Given the description of an element on the screen output the (x, y) to click on. 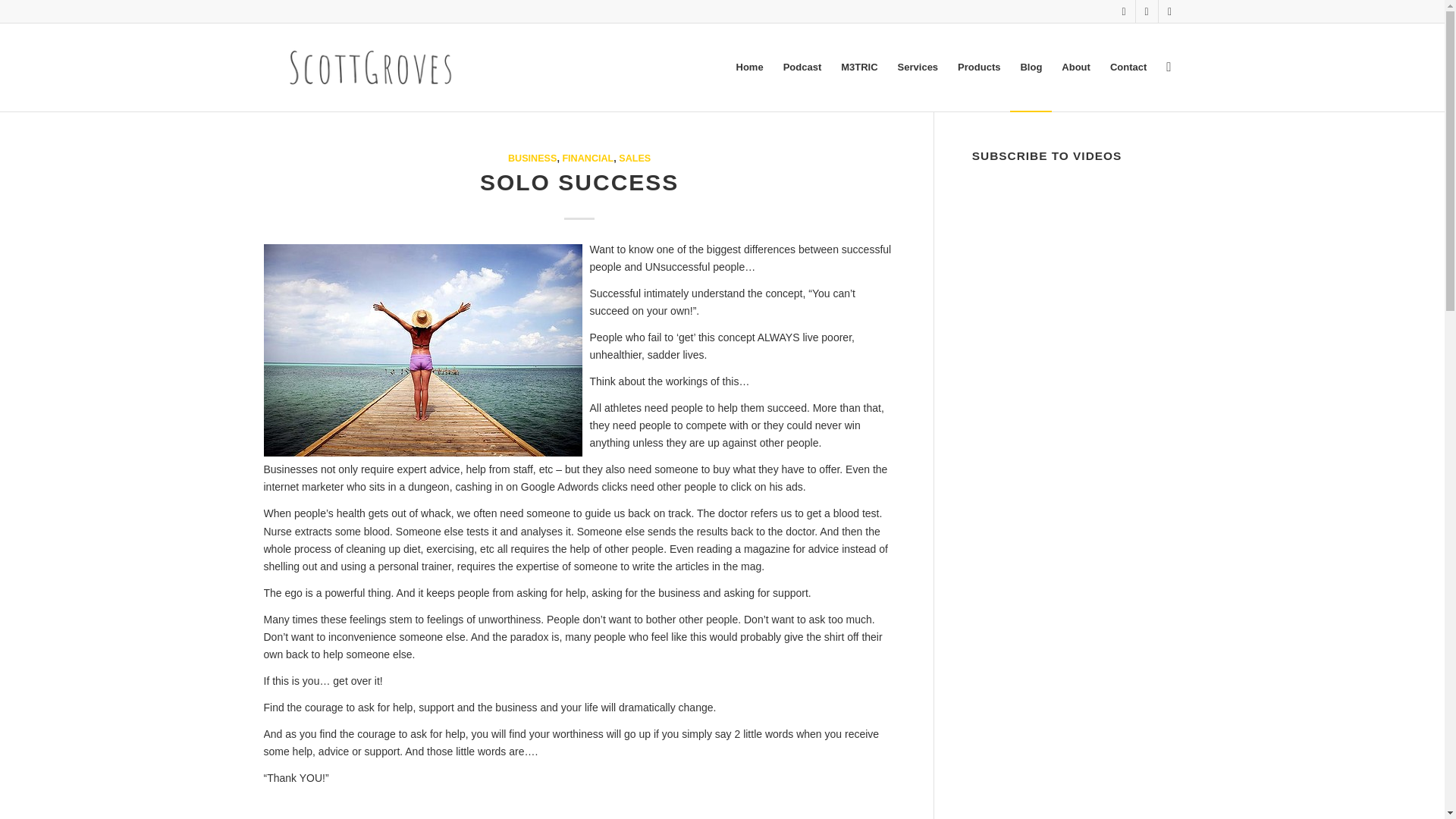
Solo Success (422, 350)
BUSINESS (532, 158)
FINANCIAL (587, 158)
SALES (634, 158)
LinkedIn (1124, 11)
Youtube (1146, 11)
scottgroves-new-logo300px (368, 67)
Rss (1169, 11)
